Given the description of an element on the screen output the (x, y) to click on. 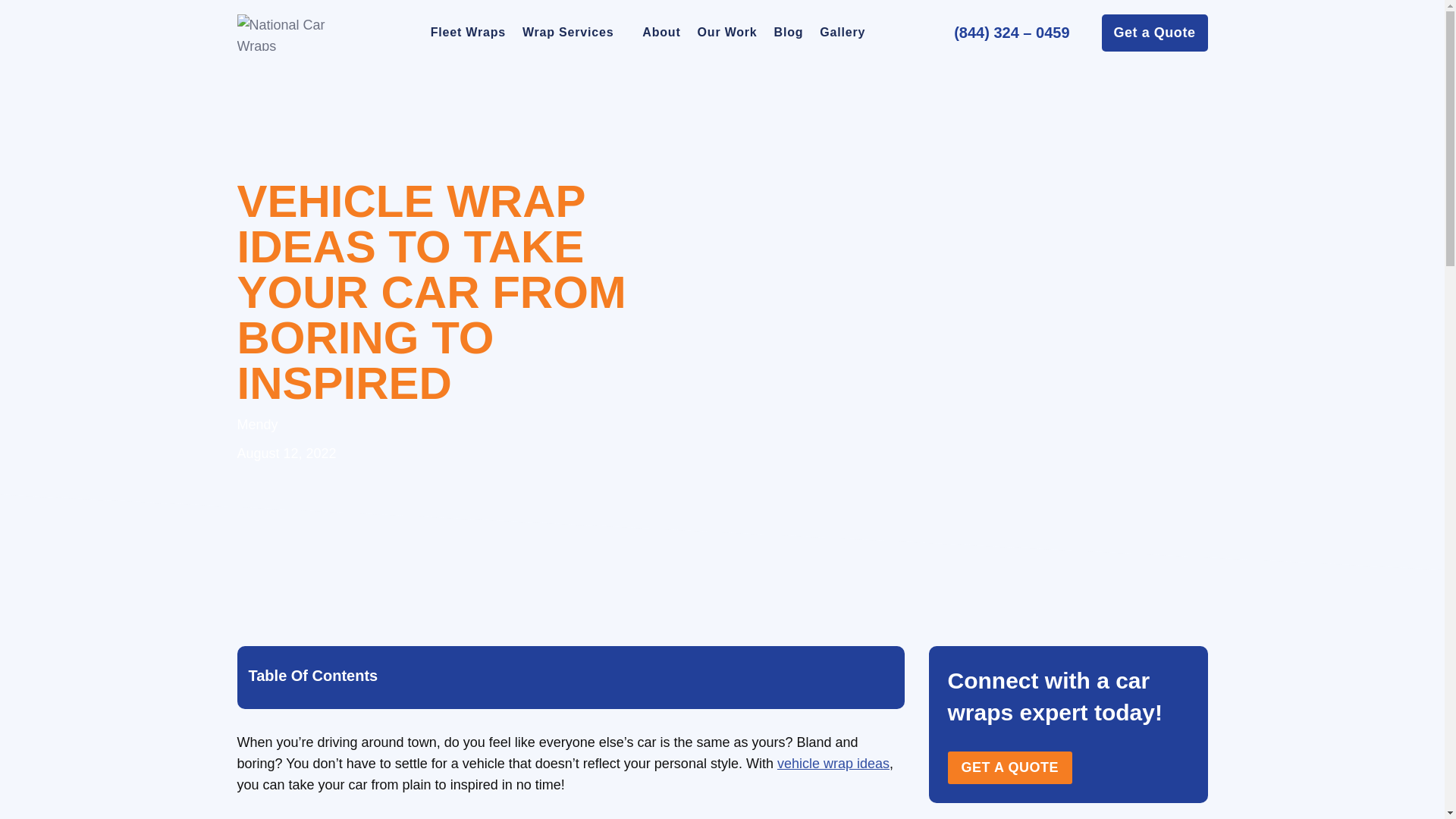
About (660, 32)
Fleet Wraps (467, 32)
Blog (788, 32)
Gallery (841, 32)
vehicle wrap ideas (833, 763)
Our Work (726, 32)
Wrap Services (573, 32)
GET A QUOTE (1010, 767)
Get a Quote (1155, 31)
